Given the description of an element on the screen output the (x, y) to click on. 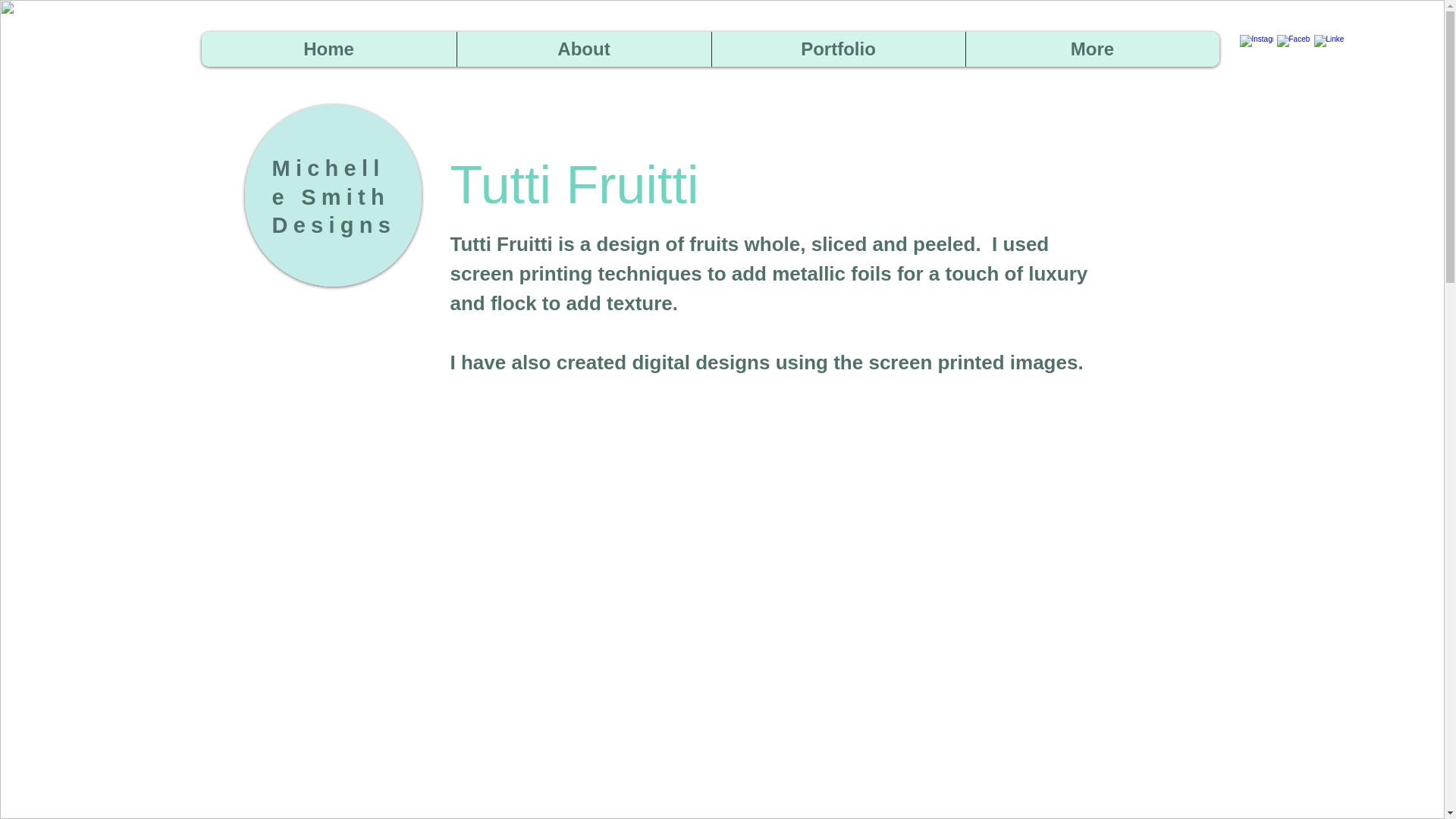
Portfolio (838, 48)
About (584, 48)
Home (329, 48)
